Given the description of an element on the screen output the (x, y) to click on. 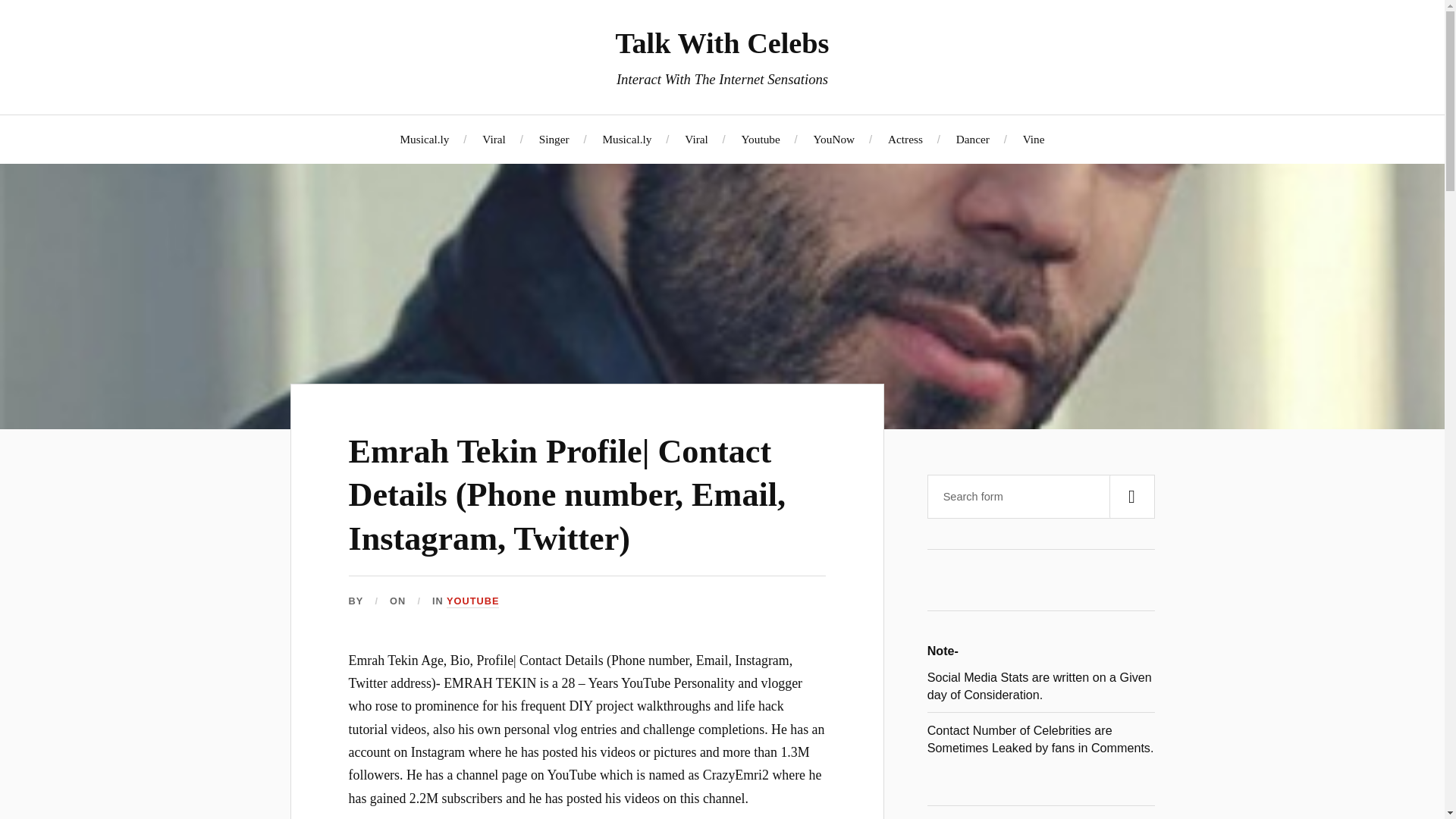
Talk With Celebs (721, 42)
YOUTUBE (472, 601)
Musical.ly (626, 138)
Musical.ly (423, 138)
